Given the description of an element on the screen output the (x, y) to click on. 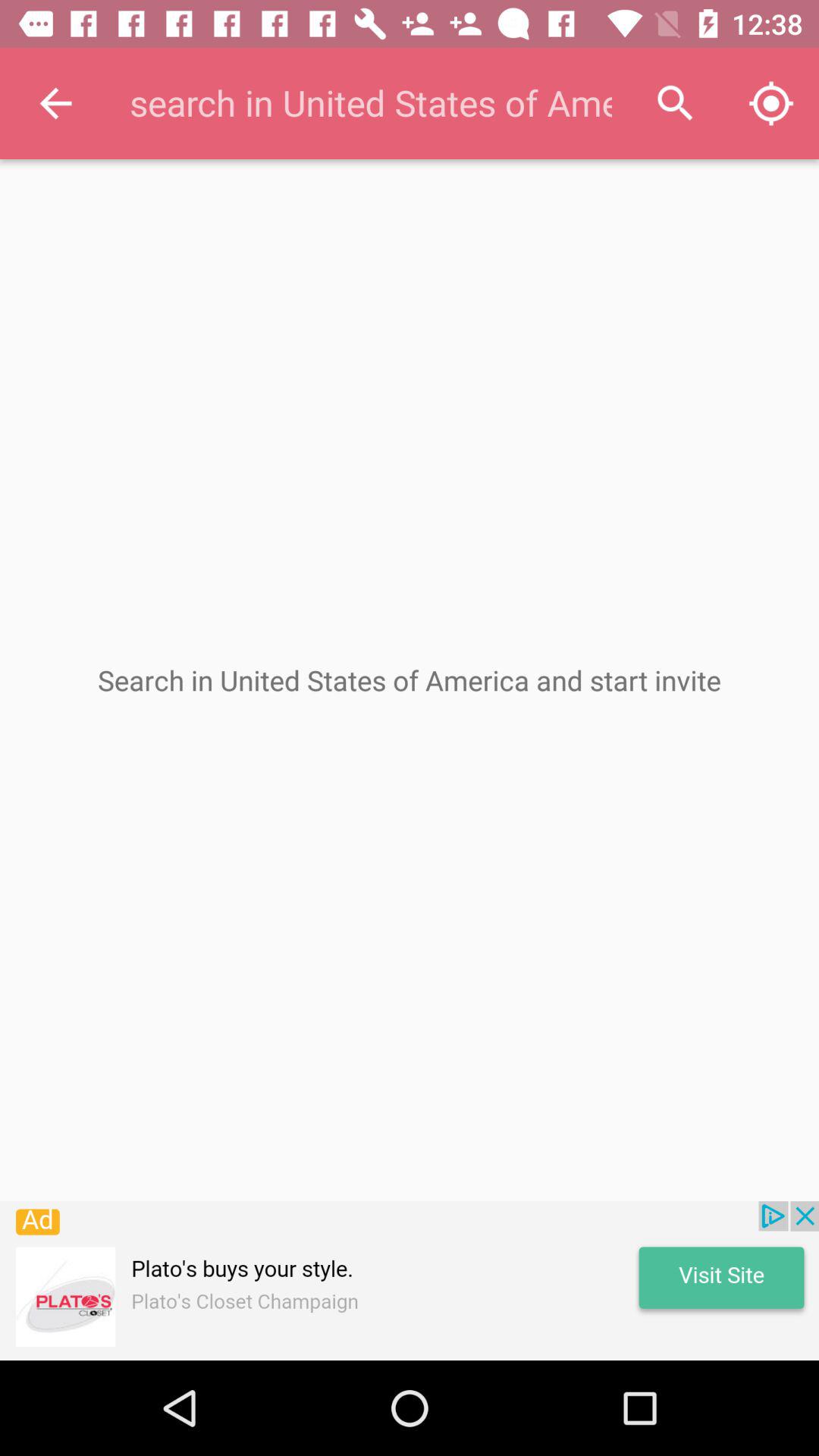
know about the advertisement (409, 1280)
